Given the description of an element on the screen output the (x, y) to click on. 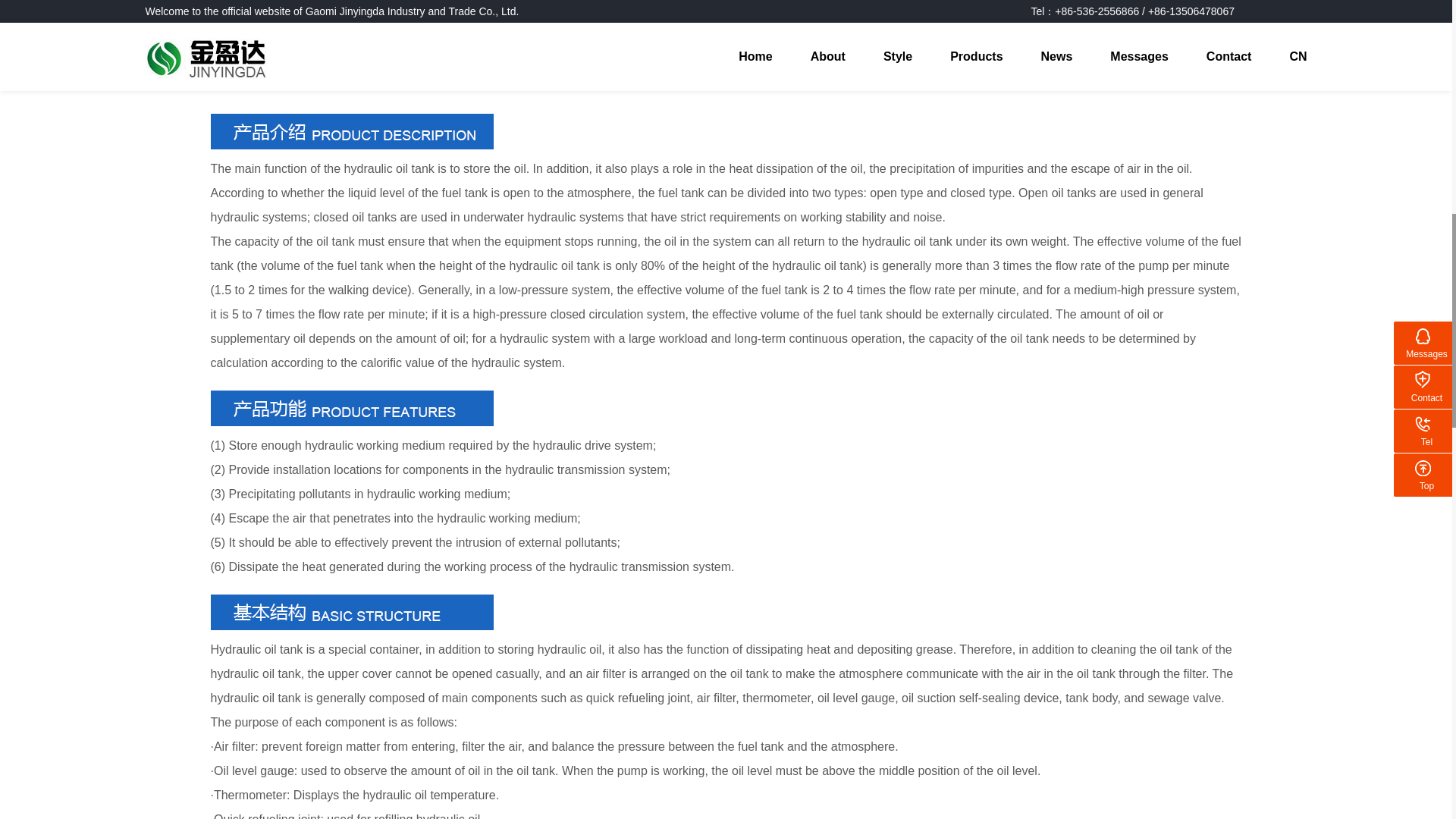
Gaomi Jinyingda Industry and Trade Co., Ltd. (352, 131)
Gaomi Jinyingda Industry and Trade Co., Ltd. (352, 611)
Gaomi Jinyingda Industry and Trade Co., Ltd. (352, 407)
ENTER (1374, 17)
